Given the description of an element on the screen output the (x, y) to click on. 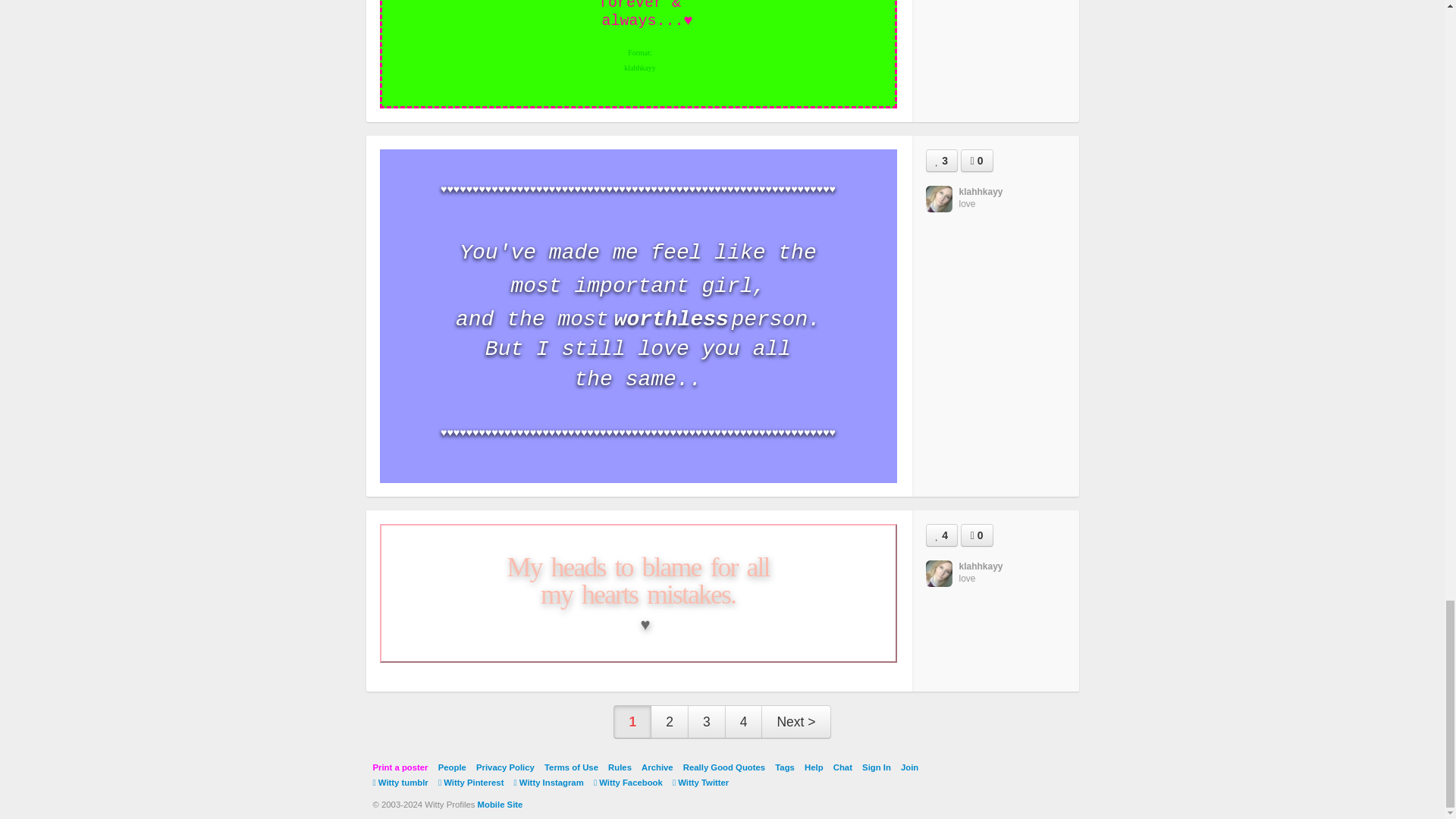
0 comments (976, 535)
add to faves (940, 535)
add to faves (940, 160)
0 comments (976, 160)
